Given the description of an element on the screen output the (x, y) to click on. 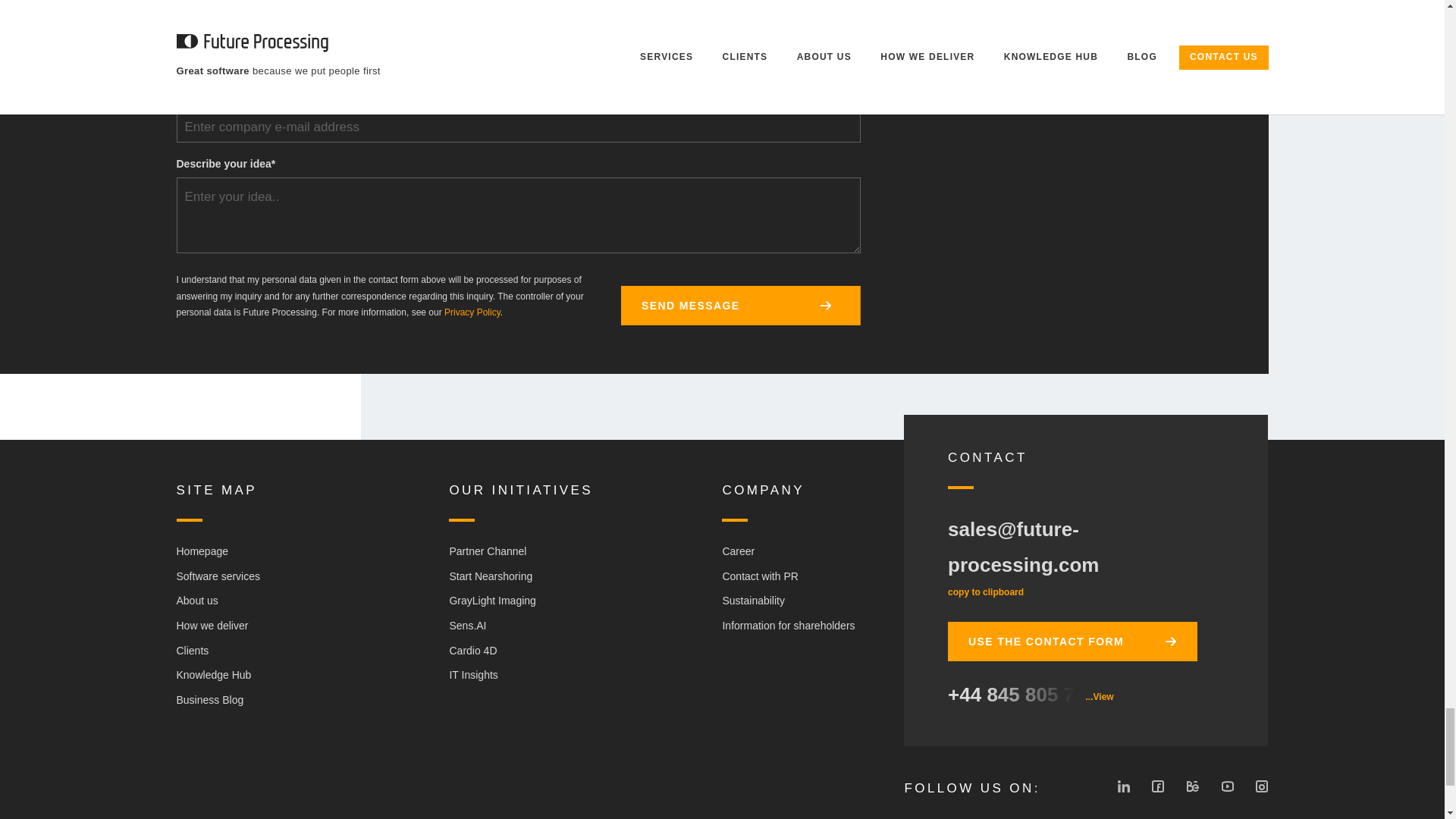
SEND MESSAGE (740, 305)
